Given the description of an element on the screen output the (x, y) to click on. 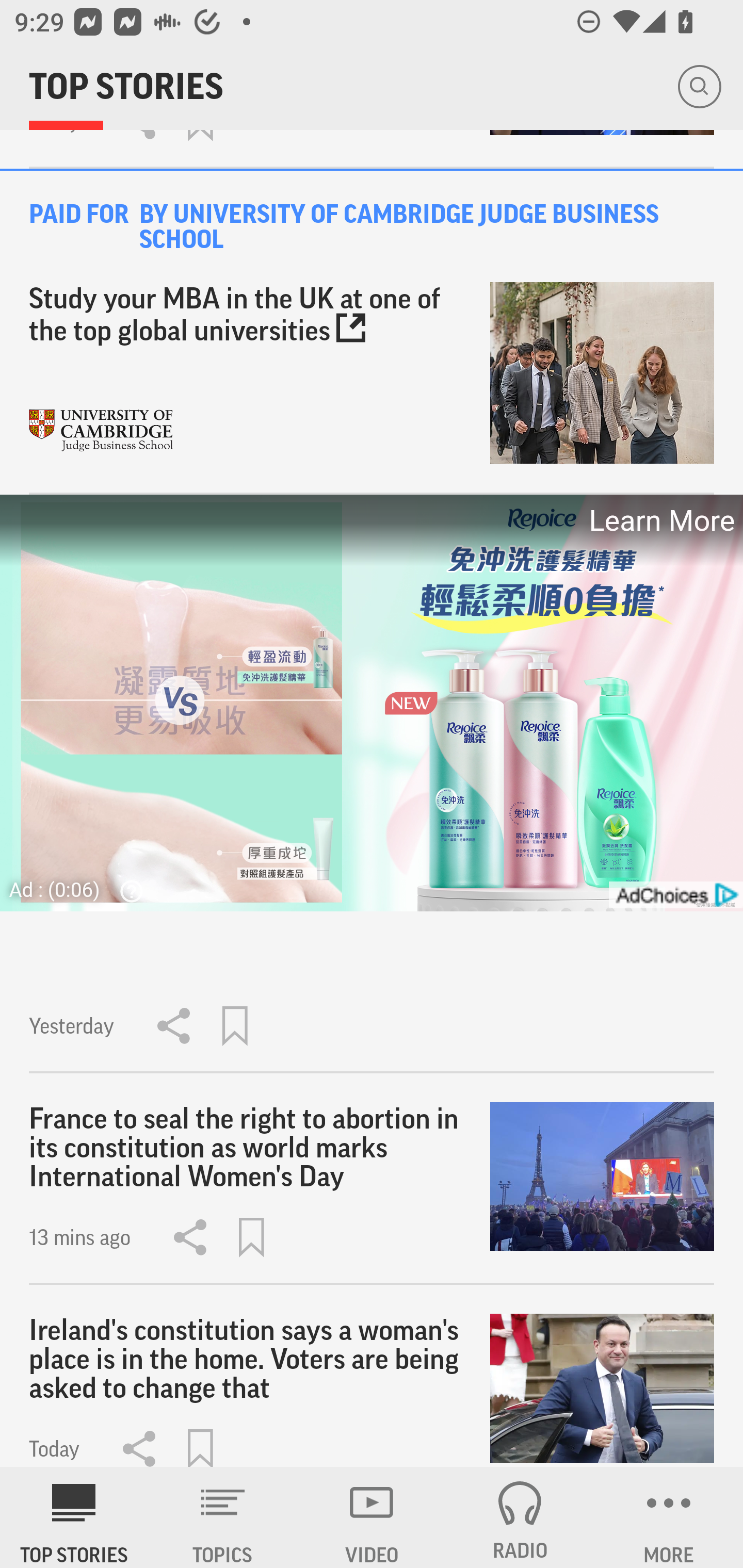
Learn More (660, 520)
Ad : (0:06) Why This Ad? (82, 889)
Why This Ad? (126, 891)
get?name=admarker-full-tl (675, 895)
AP News TOP STORIES (74, 1517)
TOPICS (222, 1517)
VIDEO (371, 1517)
RADIO (519, 1517)
MORE (668, 1517)
